Given the description of an element on the screen output the (x, y) to click on. 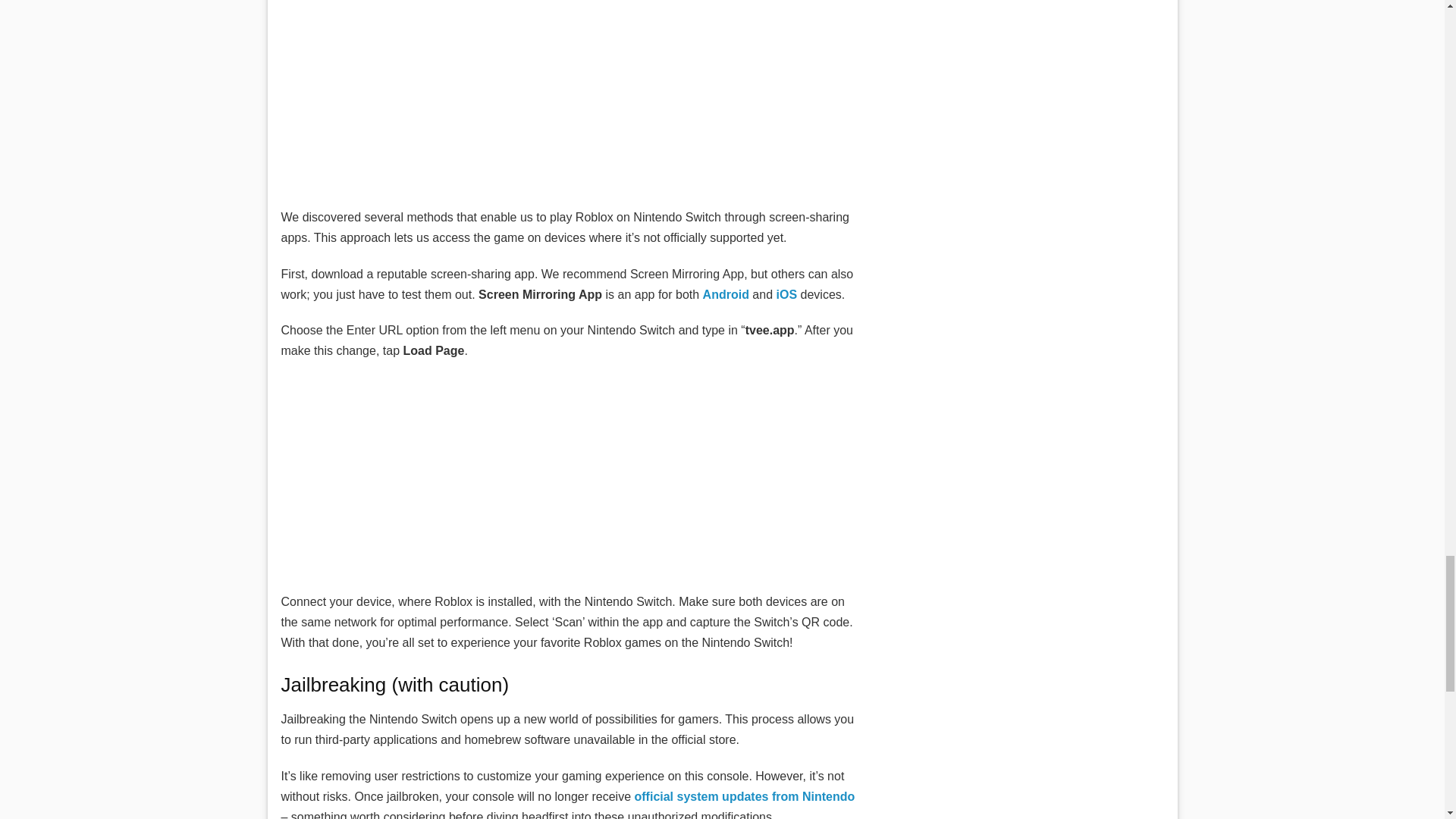
iOS (786, 294)
Android (726, 294)
official system updates from Nintendo (743, 796)
